Given the description of an element on the screen output the (x, y) to click on. 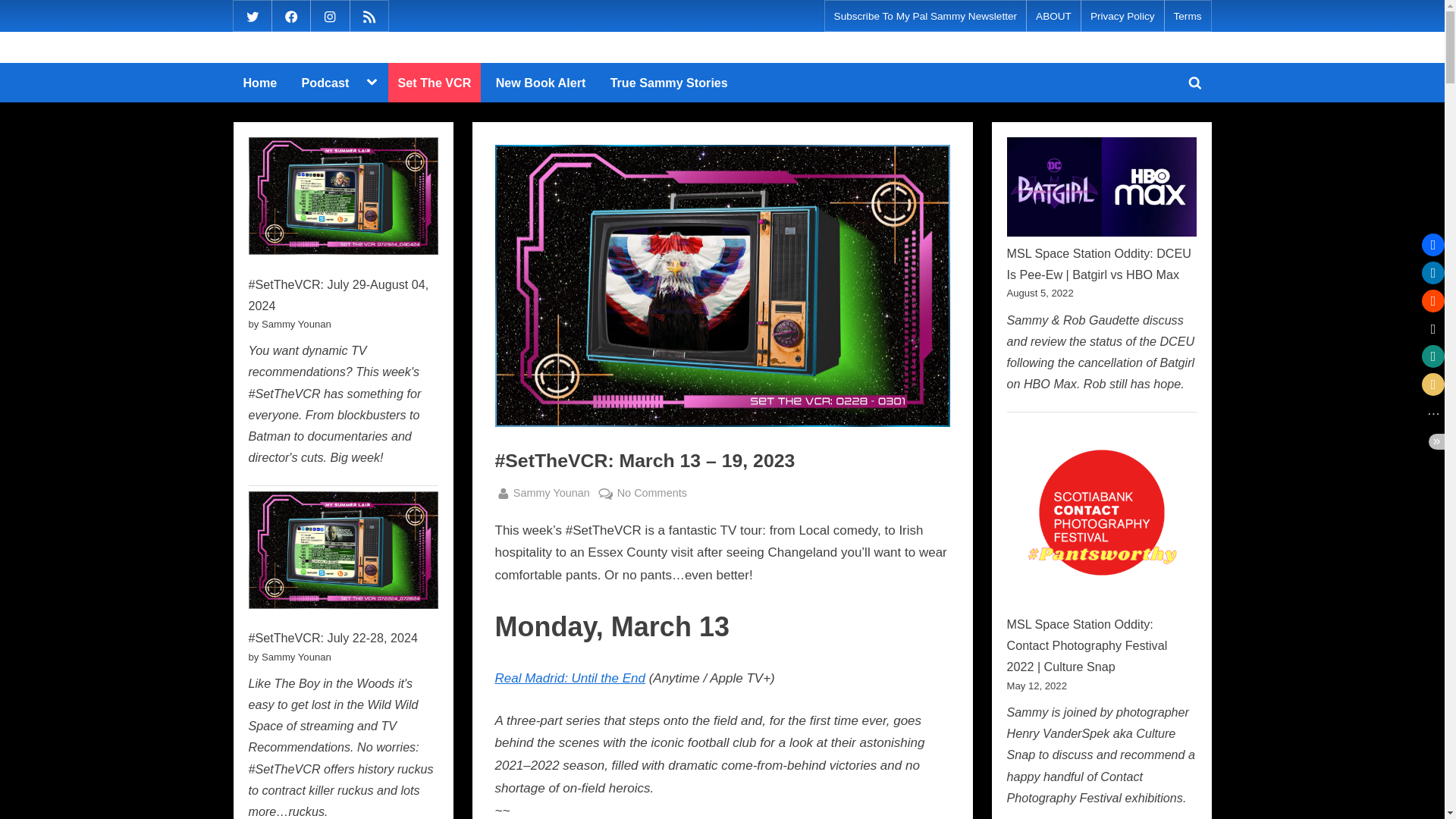
Terms (1187, 16)
Real Madrid: Until the End (570, 677)
True Sammy Stories (668, 82)
Twitter (252, 15)
Home (259, 82)
Toggle search form (1194, 82)
My Summer Lair (292, 57)
ABOUT (1053, 16)
Toggle sub-menu (370, 82)
Set The VCR (434, 82)
PodBean (368, 15)
Podcast (325, 82)
Subscribe To My Pal Sammy Newsletter (925, 16)
